Given the description of an element on the screen output the (x, y) to click on. 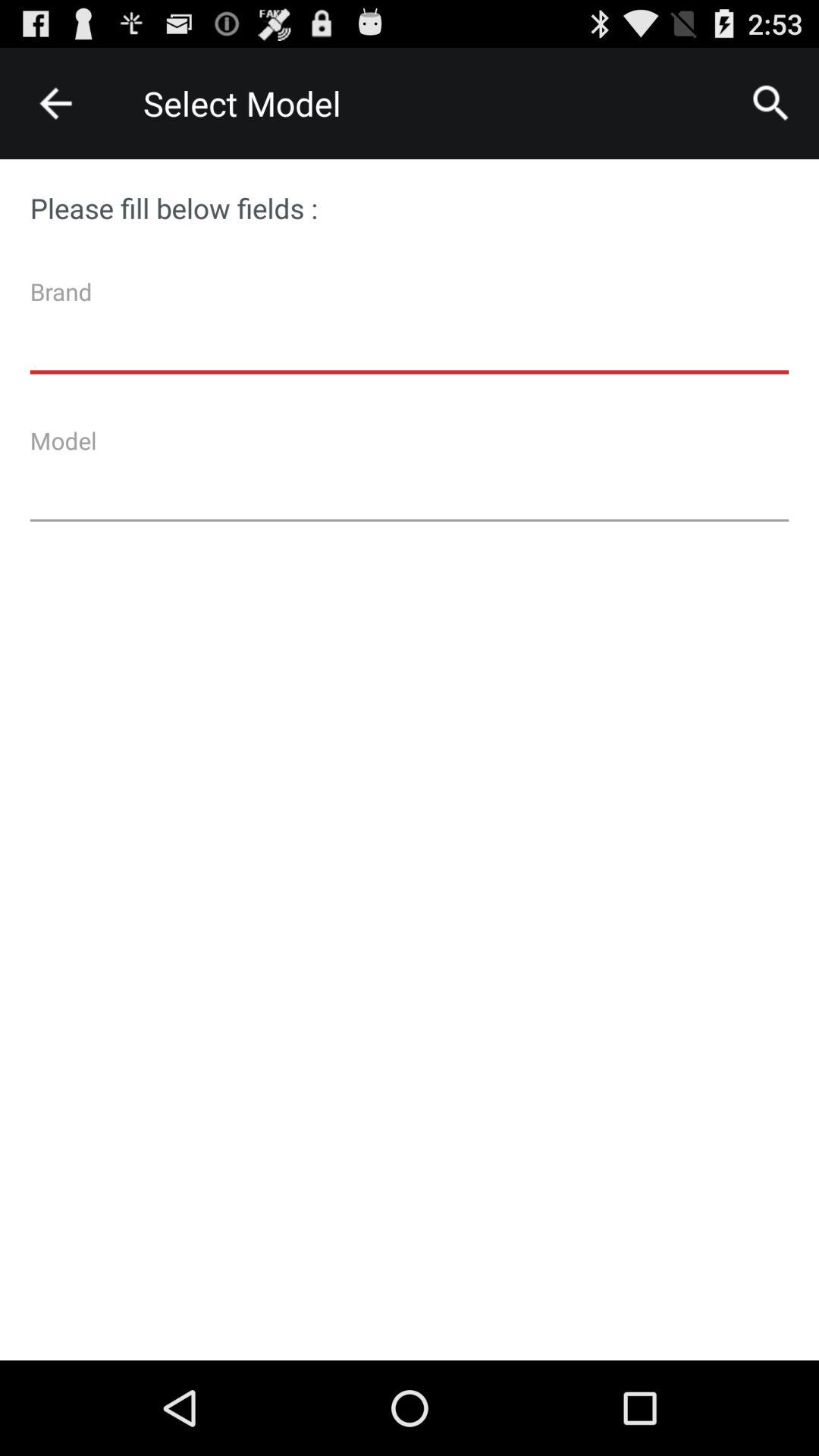
turn on the icon above the please fill below (55, 103)
